Given the description of an element on the screen output the (x, y) to click on. 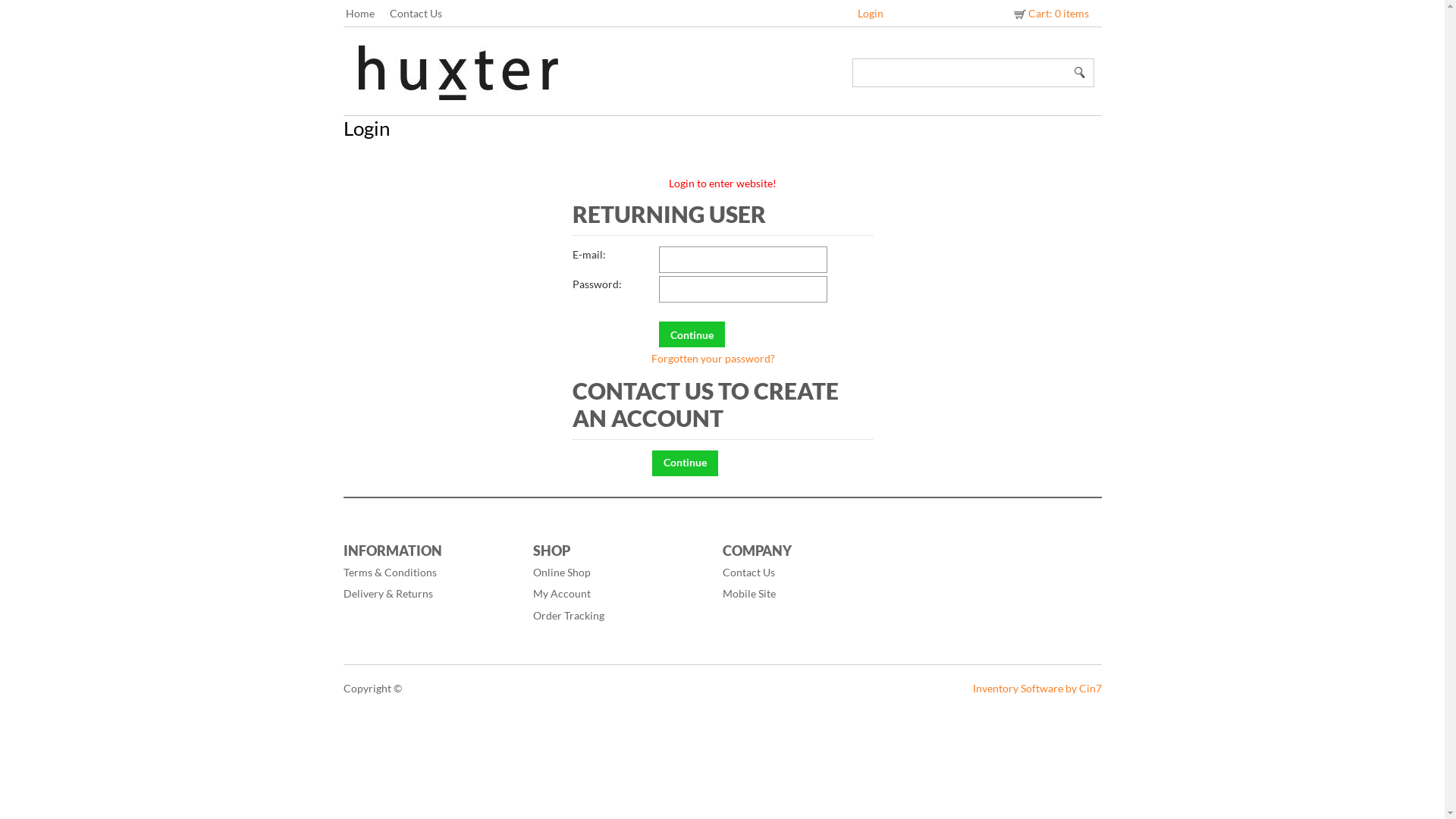
Login Element type: text (870, 12)
Terms & Conditions Element type: text (429, 572)
Home Element type: text (367, 12)
Continue Element type: text (691, 334)
Contact Us Element type: text (808, 572)
Cart: 0 items Element type: text (1049, 12)
My Account Element type: text (619, 593)
Online Shop Element type: text (619, 572)
Inventory Software by Cin7 Element type: text (1036, 687)
Continue Element type: text (685, 463)
Delivery & Returns Element type: text (429, 593)
Order Tracking Element type: text (619, 615)
Search Products... Element type: hover (960, 72)
Contact Us Element type: text (423, 12)
Forgotten your password? Element type: text (712, 357)
Mobile Site Element type: text (808, 593)
